Given the description of an element on the screen output the (x, y) to click on. 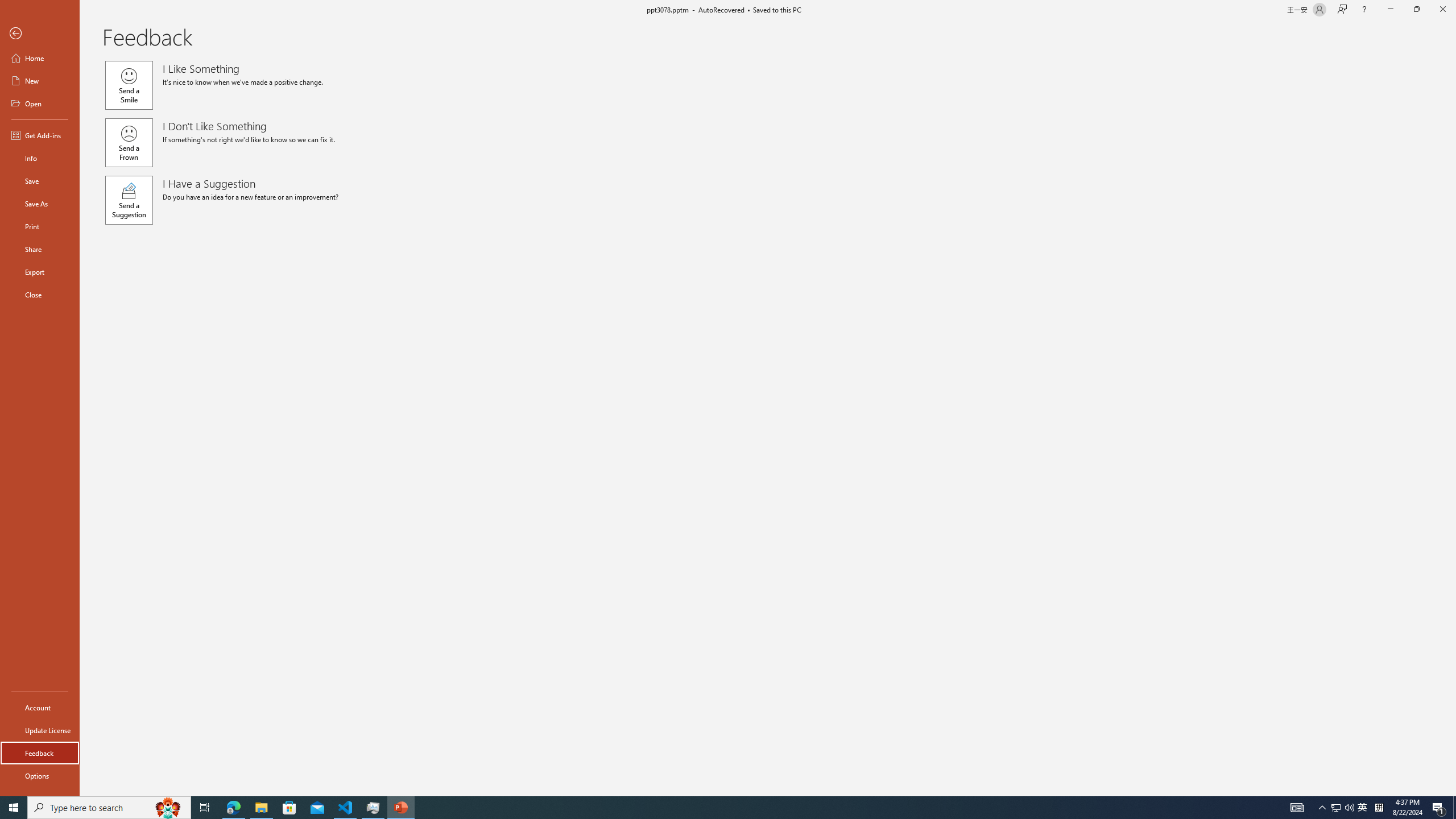
Get Add-ins (40, 134)
Account (40, 707)
Feedback (40, 753)
Send a Frown (128, 142)
Send a Smile (128, 84)
Info (40, 157)
New (40, 80)
Send a Suggestion (128, 200)
Print (40, 225)
